Given the description of an element on the screen output the (x, y) to click on. 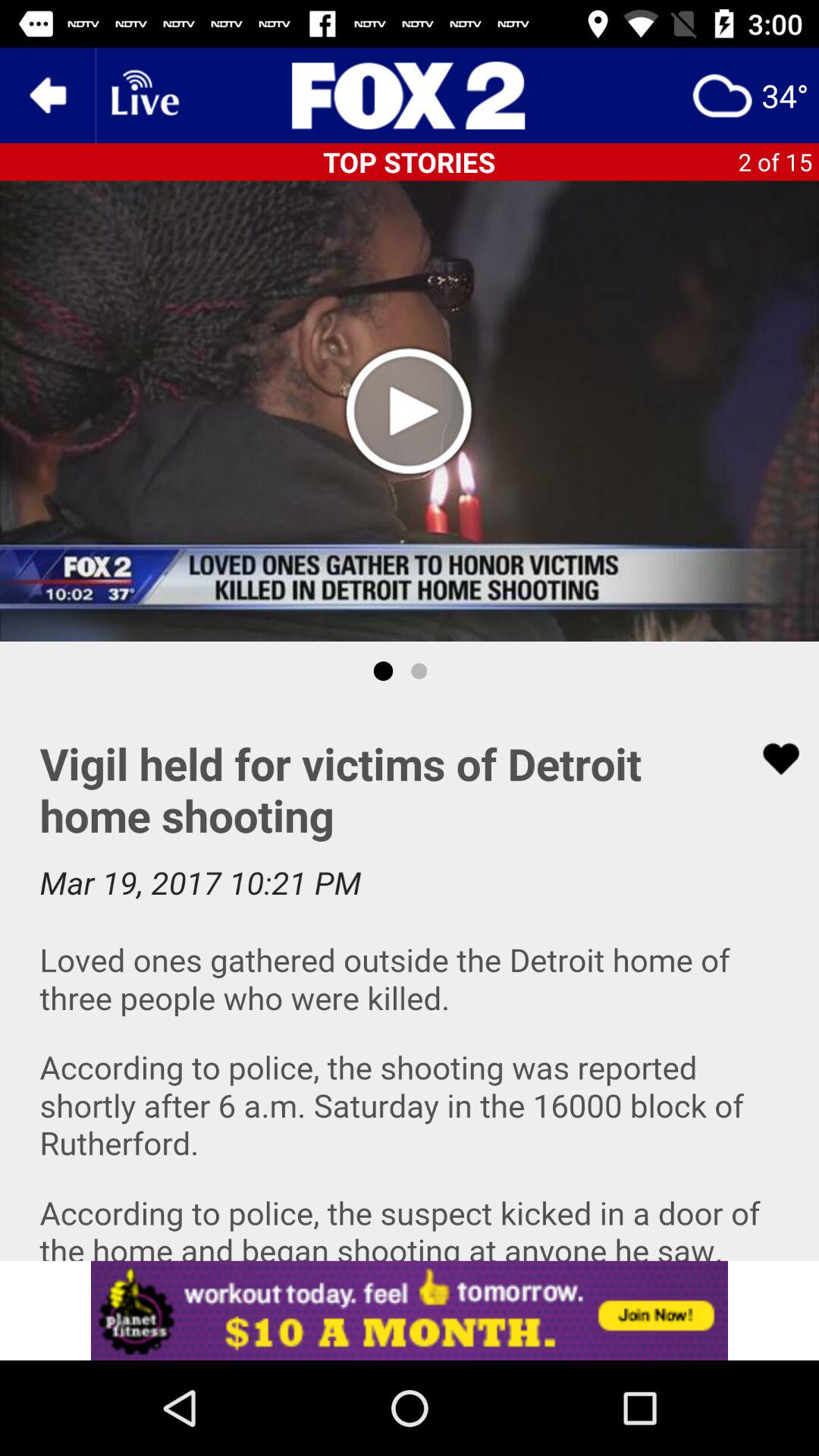
go back (47, 95)
